Given the description of an element on the screen output the (x, y) to click on. 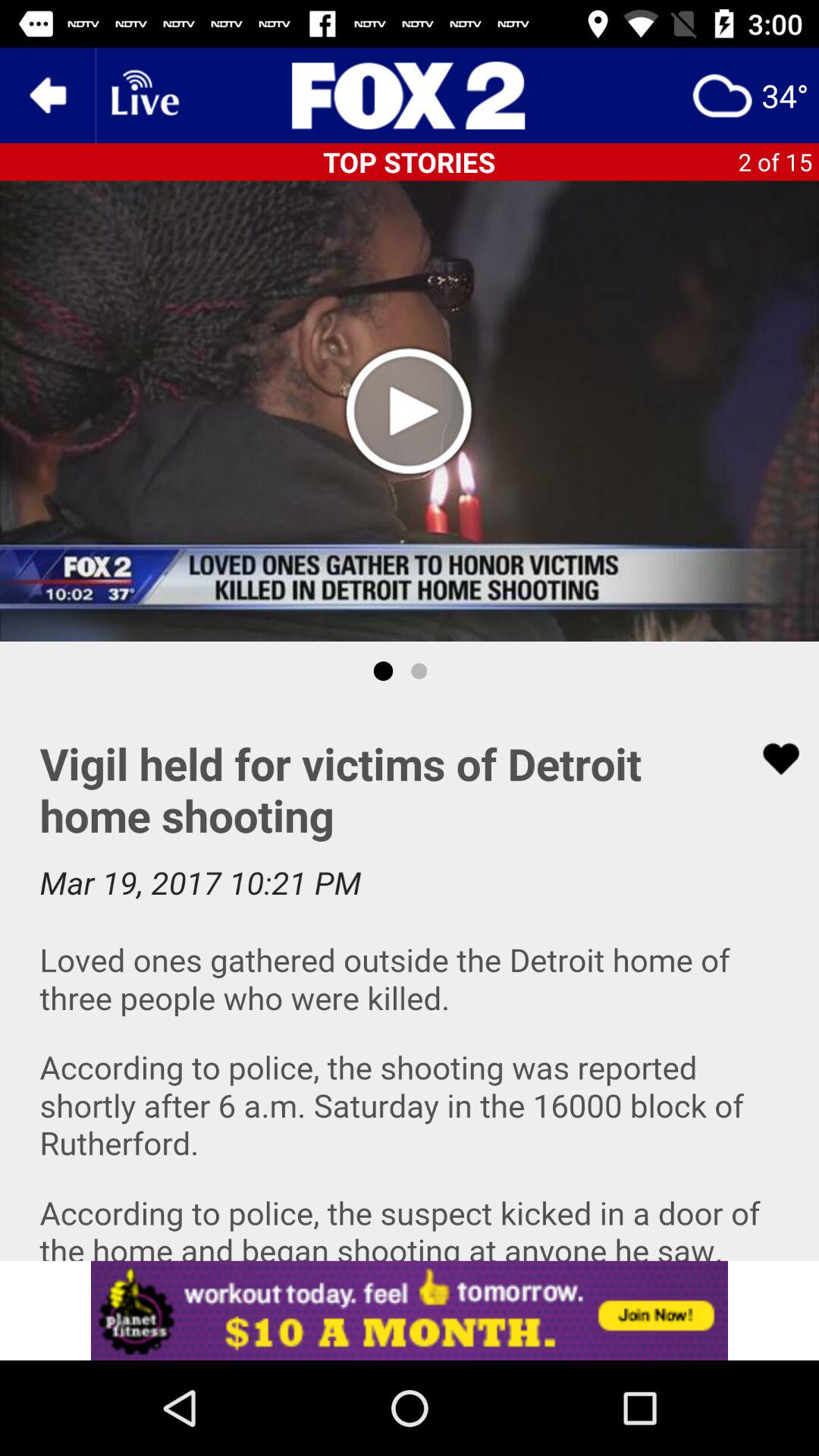
go back (47, 95)
